Given the description of an element on the screen output the (x, y) to click on. 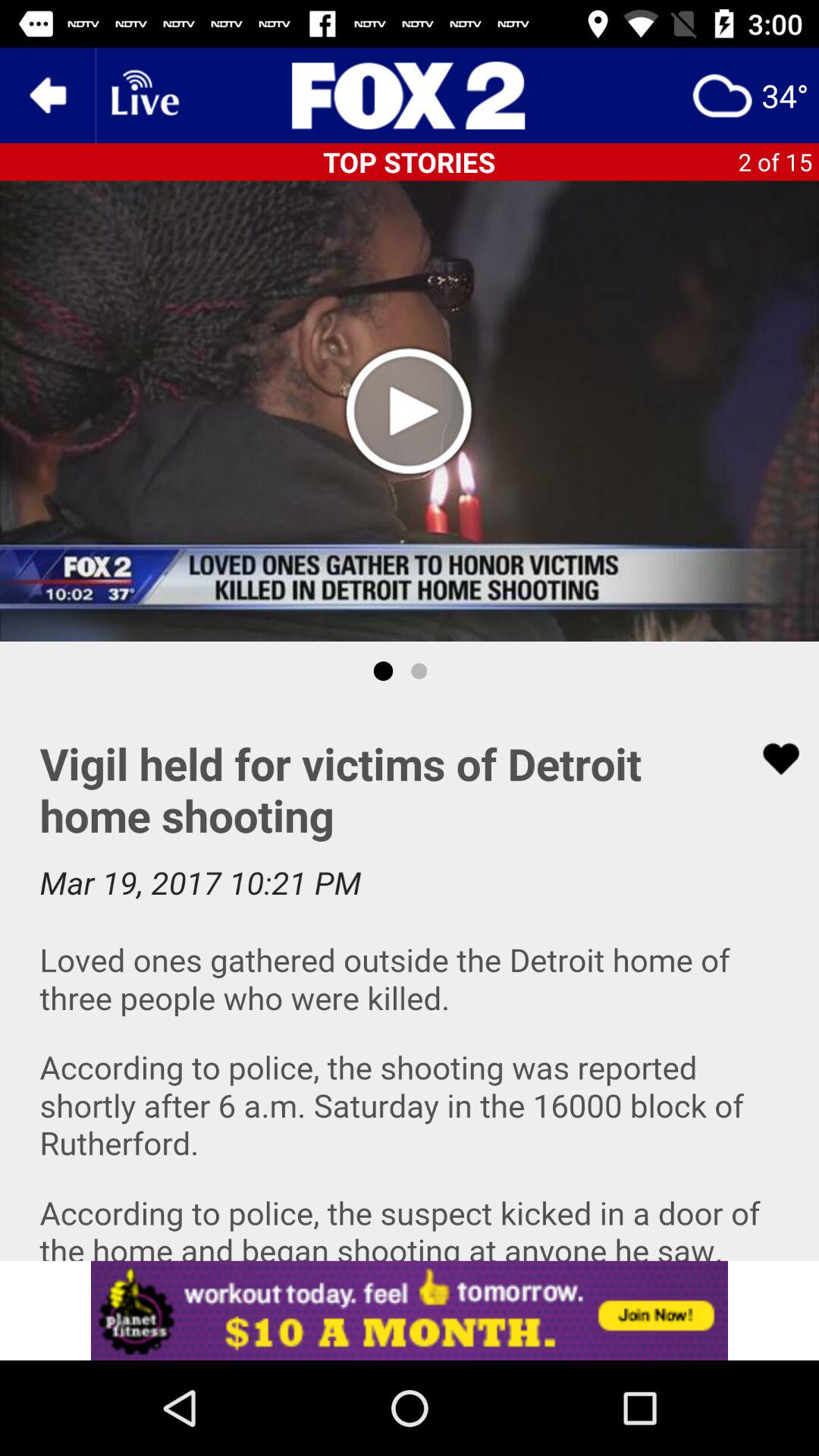
go back (47, 95)
